Given the description of an element on the screen output the (x, y) to click on. 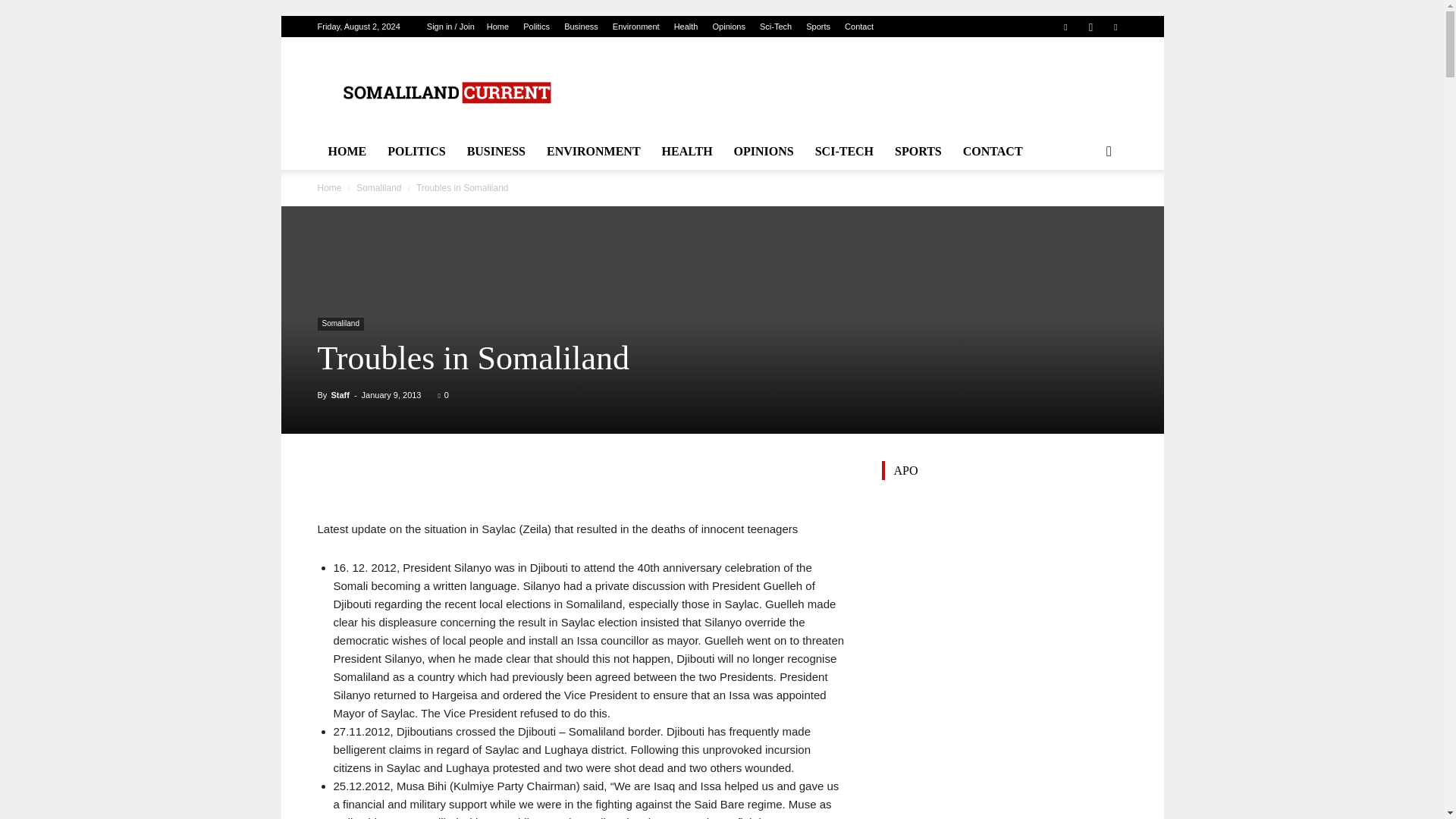
Home (497, 26)
Facebook (1065, 25)
View all posts in Somaliland (378, 187)
Instagram (1090, 25)
Twitter (1114, 25)
Politics (536, 26)
somalilandcurrent.com logo (445, 92)
